Given the description of an element on the screen output the (x, y) to click on. 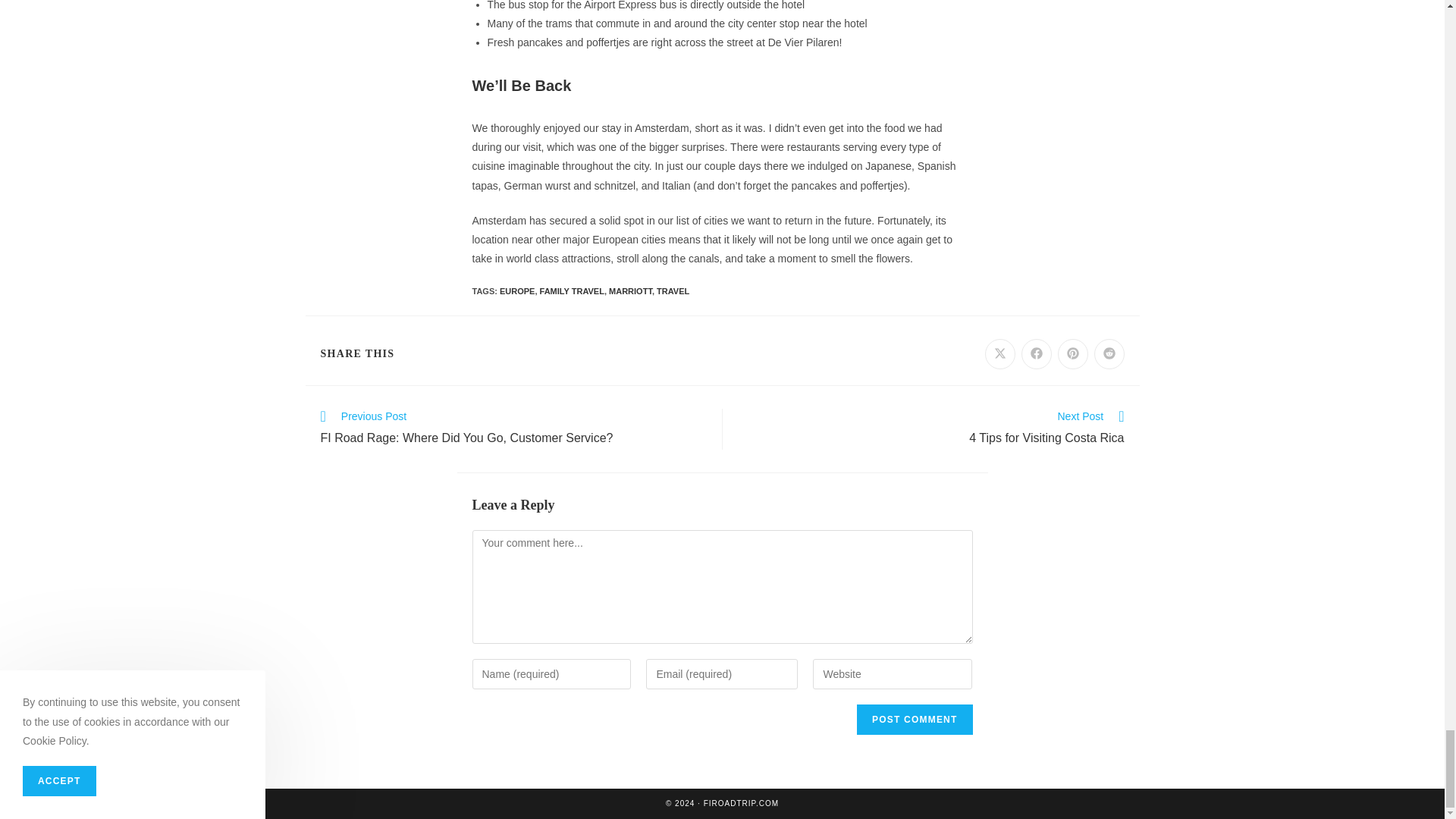
Post Comment (914, 719)
MARRIOTT (630, 290)
TRAVEL (672, 290)
FAMILY TRAVEL (572, 290)
EUROPE (516, 290)
